Given the description of an element on the screen output the (x, y) to click on. 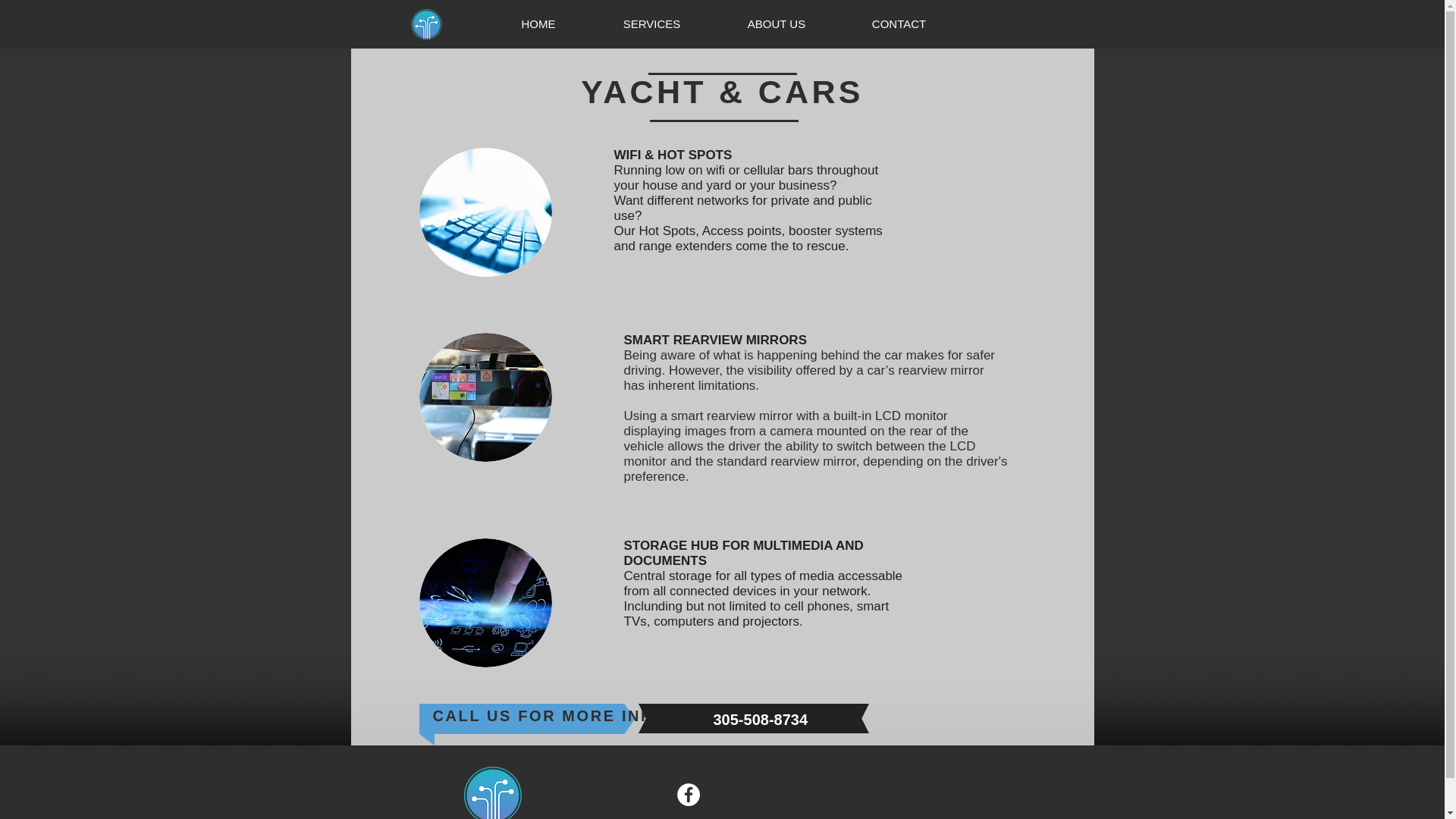
s-l1000.jpg (485, 396)
Blue Keyboard (485, 212)
ABOUT US (776, 24)
Digital social media (485, 602)
CONTACT (899, 24)
SERVICES (651, 24)
HOME (538, 24)
